Given the description of an element on the screen output the (x, y) to click on. 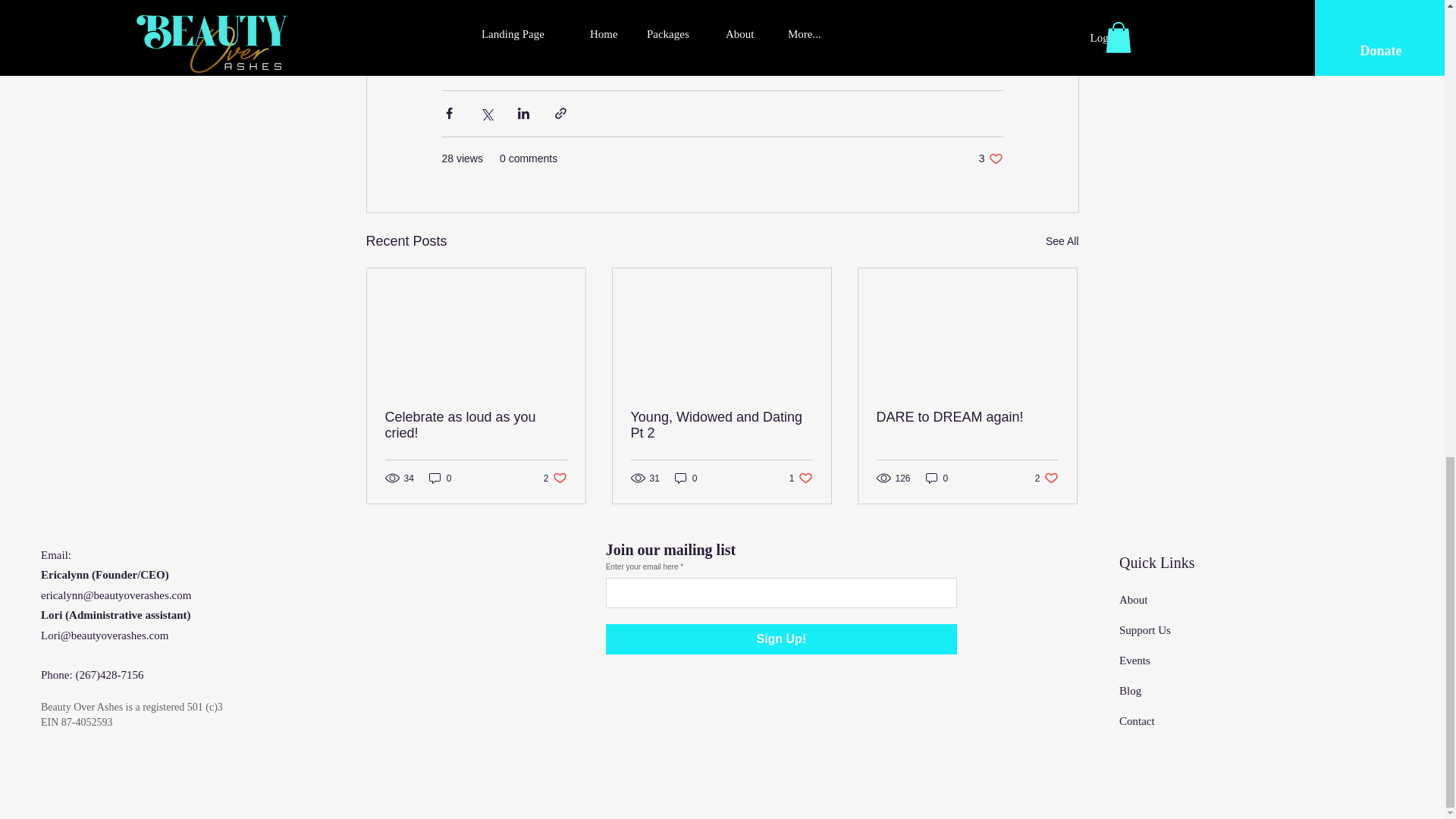
Support Us (1144, 630)
Sign Up! (780, 639)
Young, Widowed and Dating Pt 2 (721, 425)
0 (937, 477)
0 (990, 158)
0 (800, 477)
DARE to DREAM again! (685, 477)
Events (440, 477)
See All (967, 417)
Celebrate as loud as you cried! (1134, 660)
About (1061, 241)
